Given the description of an element on the screen output the (x, y) to click on. 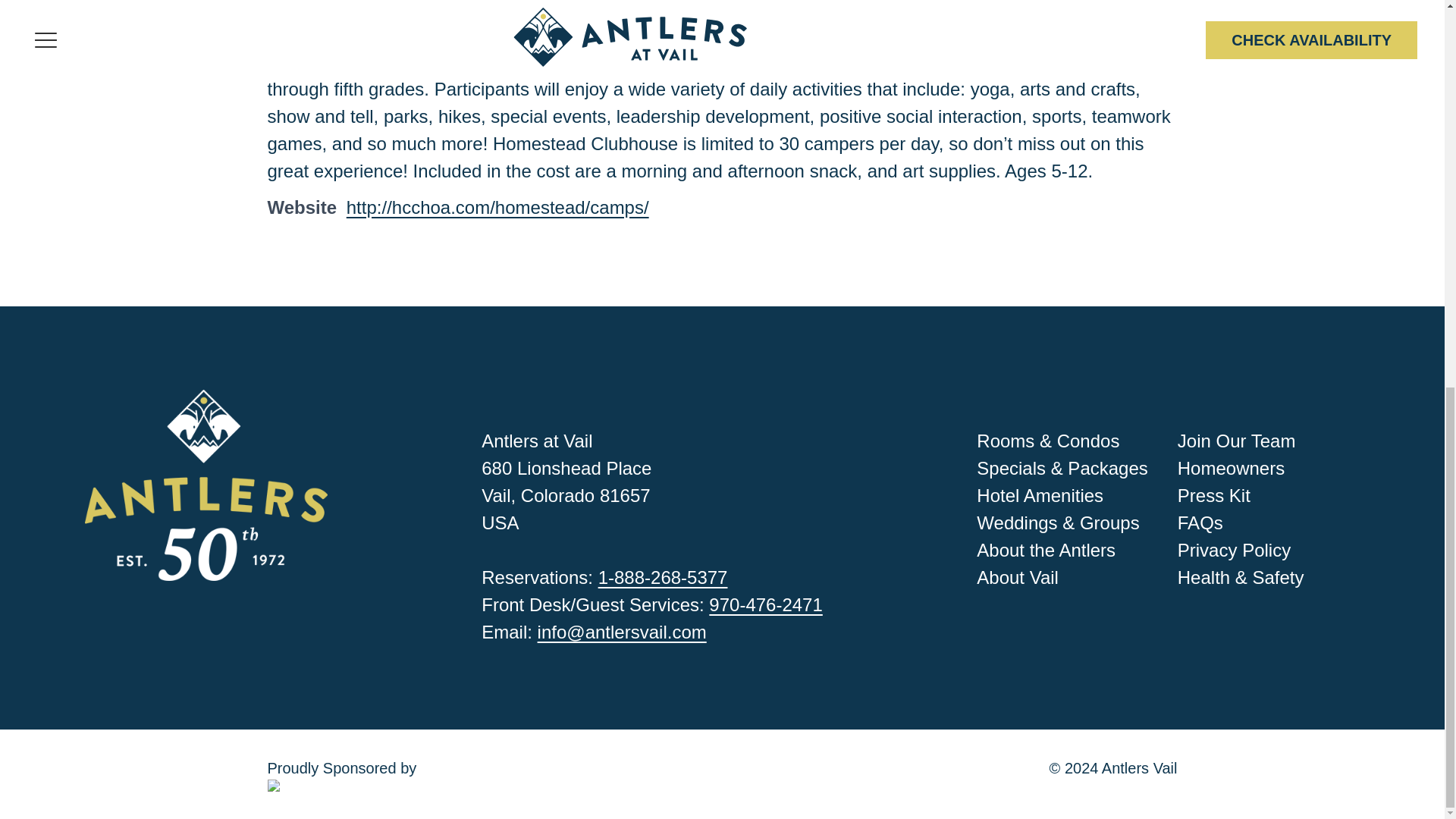
1-888-268-5377 (663, 577)
Summer Camps (485, 4)
Hotel Amenities (1039, 495)
About Vail (1017, 577)
Privacy Policy (1233, 549)
About the Antlers (1045, 549)
Homeowners (1230, 467)
970-476-2471 (765, 604)
Join Our Team (1236, 440)
FAQs (1200, 522)
Press Kit (1213, 495)
